Given the description of an element on the screen output the (x, y) to click on. 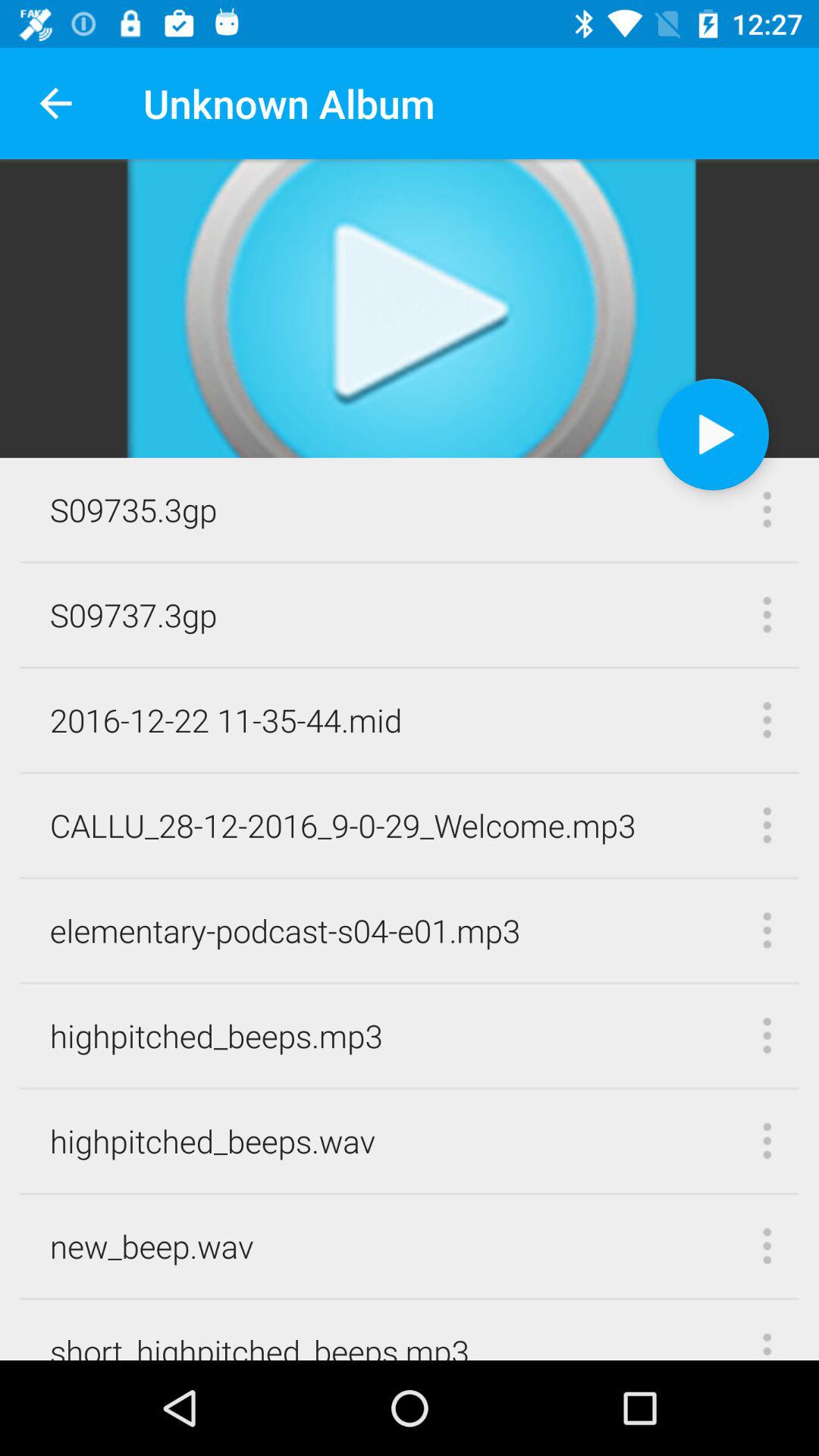
choose the icon next to unknown album app (55, 103)
